Given the description of an element on the screen output the (x, y) to click on. 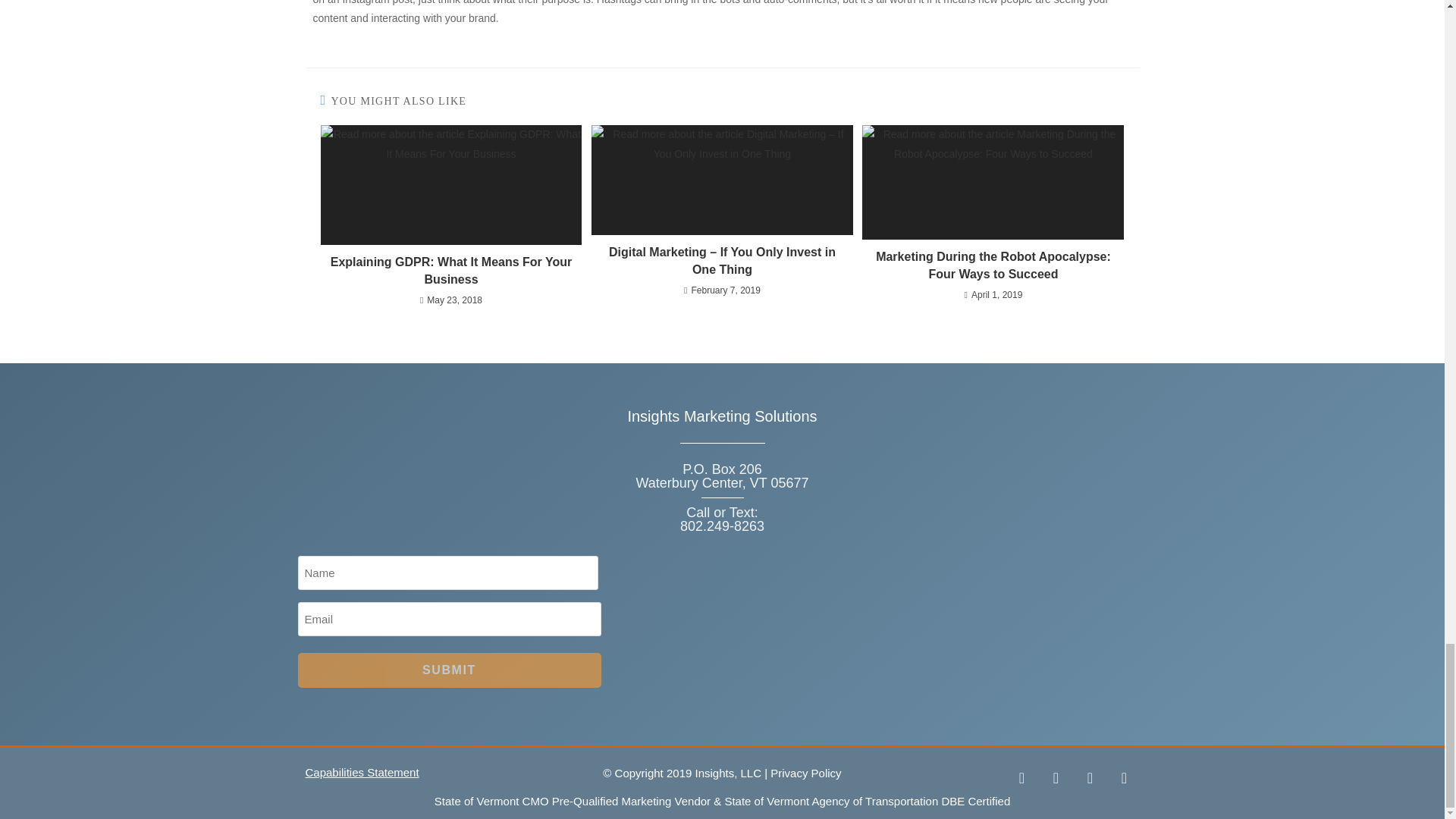
Marketing During the Robot Apocalypse: Four Ways to Succeed (992, 265)
Insights Marketing Solutions (721, 416)
Submit (448, 669)
Capabilities Statement (361, 771)
Explaining GDPR: What It Means For Your Business (450, 270)
Submit (448, 669)
